Given the description of an element on the screen output the (x, y) to click on. 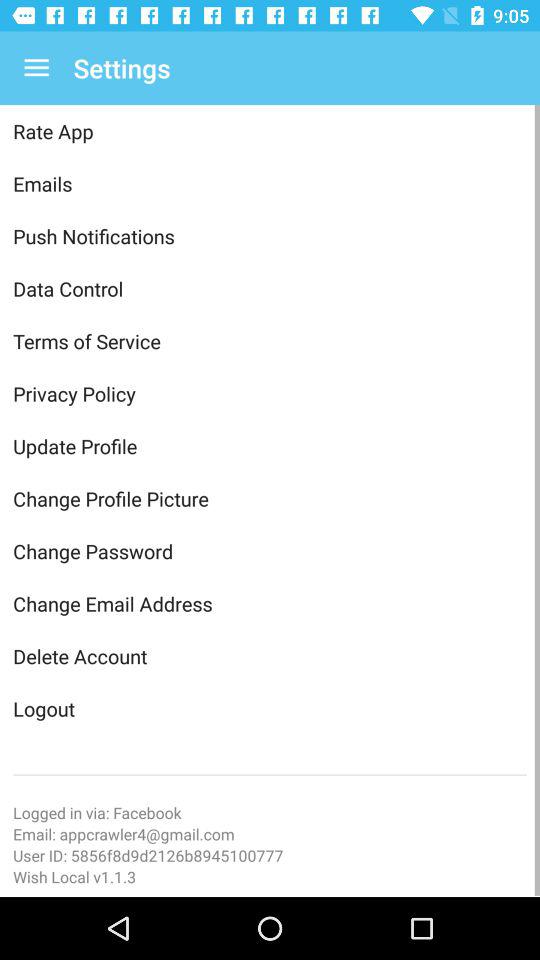
open the icon above the logout item (269, 656)
